Given the description of an element on the screen output the (x, y) to click on. 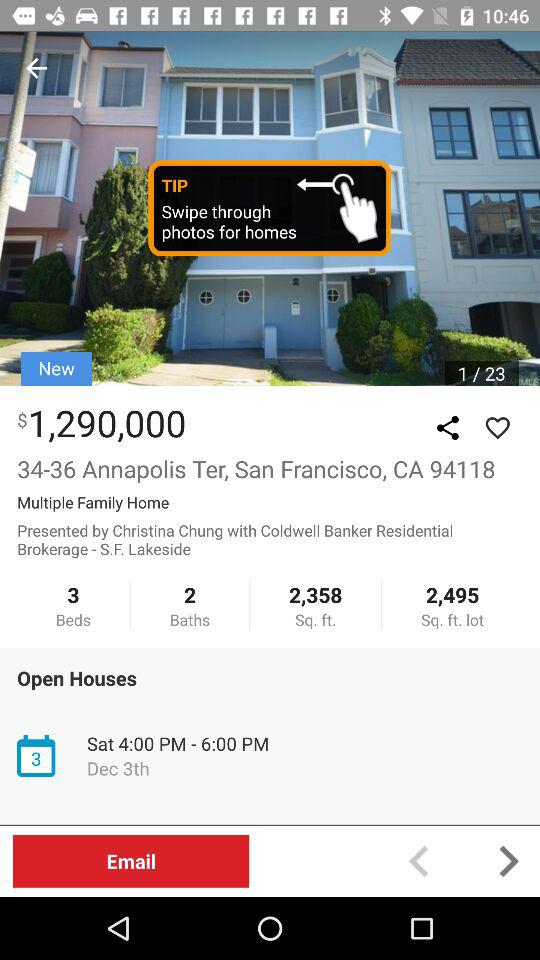
share the advertisement (447, 428)
